Given the description of an element on the screen output the (x, y) to click on. 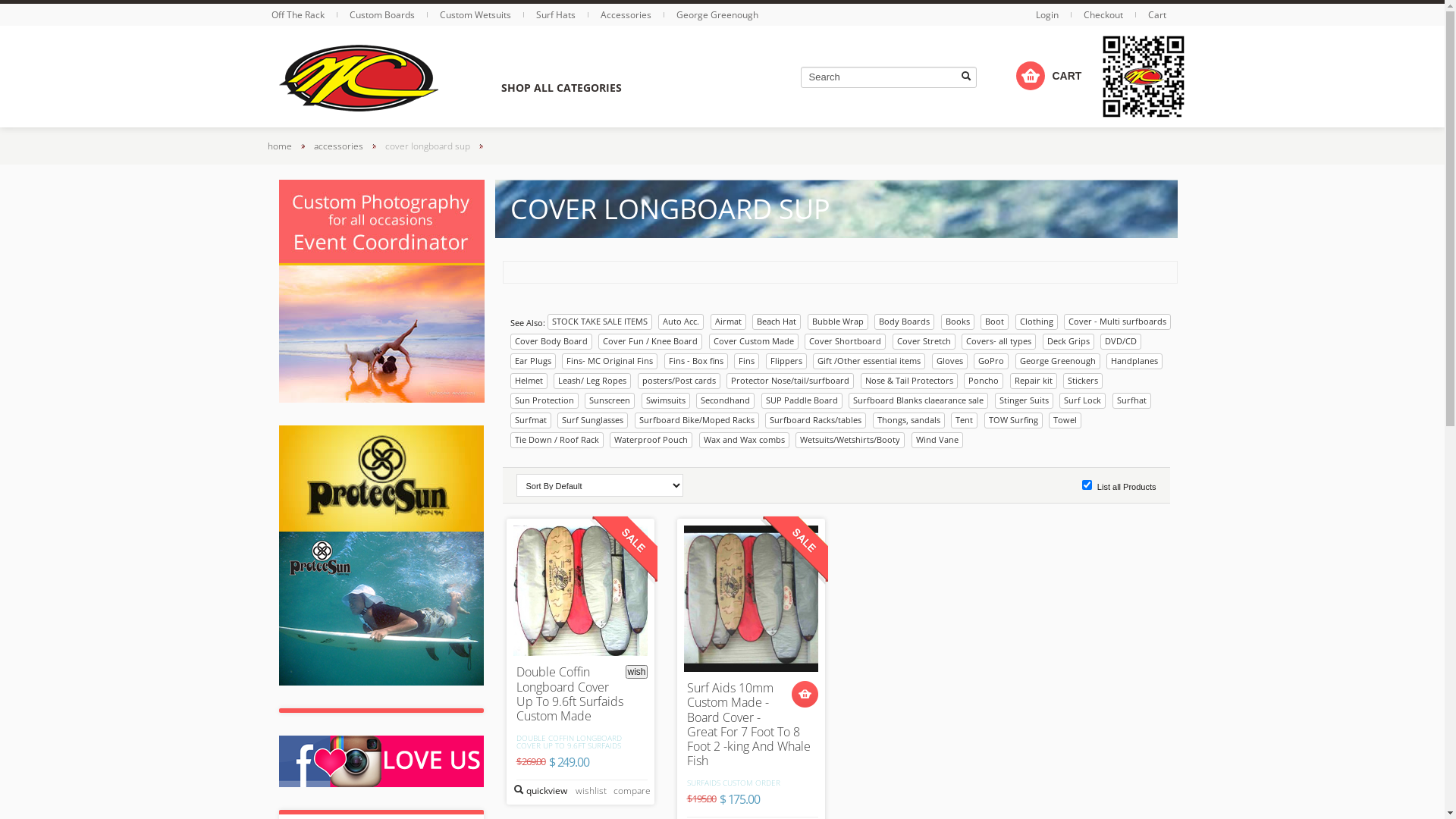
Deck Grips Element type: text (1067, 341)
Checkout Element type: text (1102, 14)
accessories Element type: text (338, 145)
Custom Boards Element type: text (382, 14)
Towel Element type: text (1064, 420)
Stinger Suits Element type: text (1023, 400)
SHOP ALL CATEGORIES Element type: text (561, 87)
Boot Element type: text (994, 321)
Books Element type: text (956, 321)
Surfmat Element type: text (529, 420)
Nose & Tail Protectors Element type: text (908, 381)
STOCK TAKE SALE ITEMS Element type: text (599, 321)
TOW Surfing Element type: text (1013, 420)
Leash/ Leg Ropes Element type: text (591, 381)
SUP Paddle Board Element type: text (801, 400)
Code SurfAids custom order Element type: hover (751, 598)
Sunscreen Element type: text (609, 400)
Poncho Element type: text (983, 381)
Sun Protection Element type: text (543, 400)
Body Boards Element type: text (904, 321)
compare Element type: text (629, 790)
Surfhat Element type: text (1130, 400)
Tie Down / Roof Rack Element type: text (555, 440)
Wax and Wax combs Element type: text (744, 440)
DVD/CD Element type: text (1120, 341)
Surf Sunglasses Element type: text (592, 420)
Wetsuits/Wetshirts/Booty Element type: text (849, 440)
Cart Element type: text (1157, 14)
Ear Plugs Element type: text (532, 361)
George Greenough Element type: text (717, 14)
Surf Lock Element type: text (1082, 400)
Thongs, sandals Element type: text (908, 420)
Custom Wetsuits Element type: text (476, 14)
Cover Custom Made Element type: text (752, 341)
Gloves Element type: text (948, 361)
Secondhand Element type: text (725, 400)
CART Element type: text (1030, 75)
home Element type: text (278, 145)
Login Element type: text (1047, 14)
Cover Shortboard Element type: text (844, 341)
Fins Element type: text (746, 361)
Surf Hats Element type: text (556, 14)
Stickers Element type: text (1082, 381)
MC Surf Element type: hover (358, 76)
posters/Post cards Element type: text (678, 381)
Swimsuits Element type: text (665, 400)
Fins- MC Original Fins Element type: text (609, 361)
Bubble Wrap Element type: text (836, 321)
GoPro Element type: text (990, 361)
Repair kit Element type: text (1033, 381)
Search Element type: text (888, 76)
George Greenough Element type: text (1056, 361)
Accessories Element type: text (626, 14)
Beach Hat Element type: text (776, 321)
Airmat Element type: text (727, 321)
Surfboard Bike/Moped Racks Element type: text (695, 420)
Off The Rack Element type: text (298, 14)
Cover - Multi surfboards Element type: text (1116, 321)
wishlist Element type: text (588, 790)
Cover Body Board Element type: text (550, 341)
Auto Acc. Element type: text (680, 321)
Code Double Coffin Longboard Cover up to 9.6FT Surfaids Element type: hover (579, 590)
Gift /Other essential items Element type: text (868, 361)
Helmet Element type: text (527, 381)
Wind Vane Element type: text (937, 440)
Handplanes Element type: text (1134, 361)
Tent Element type: text (963, 420)
Waterproof Pouch Element type: text (650, 440)
Fins - Box fins Element type: text (696, 361)
Flippers Element type: text (785, 361)
Protector Nose/tail/surfboard Element type: text (789, 381)
Surfboard Racks/tables Element type: text (815, 420)
Cover Fun / Knee Board Element type: text (650, 341)
Surfboard Blanks claearance sale Element type: text (918, 400)
Covers- all types Element type: text (998, 341)
Cover Stretch Element type: text (922, 341)
wish Element type: text (635, 671)
Clothing Element type: text (1035, 321)
